Given the description of an element on the screen output the (x, y) to click on. 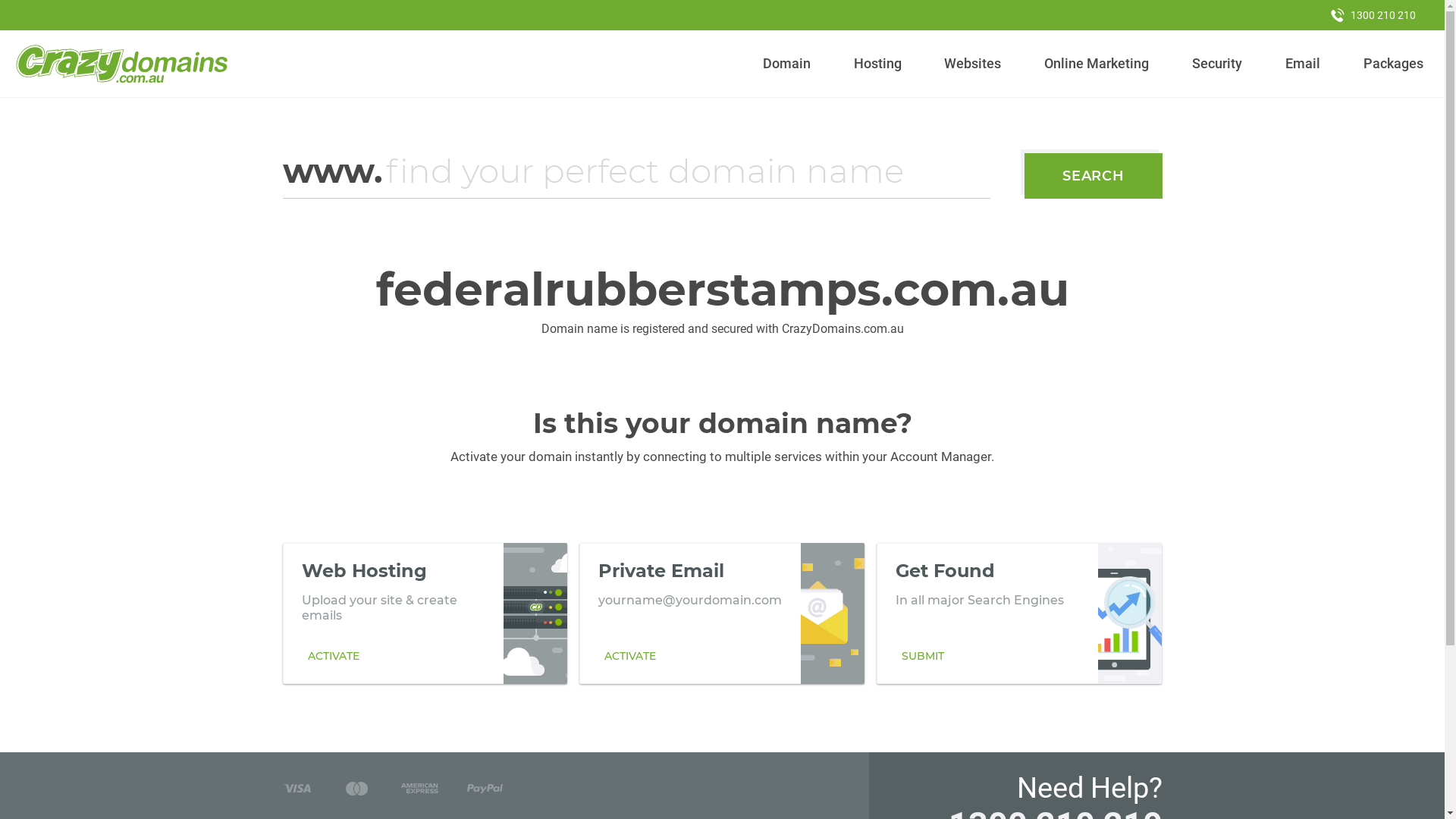
Domain Element type: text (786, 63)
SEARCH Element type: text (1092, 175)
Security Element type: text (1217, 63)
Private Email
yourname@yourdomain.com
ACTIVATE Element type: text (721, 613)
Web Hosting
Upload your site & create emails
ACTIVATE Element type: text (424, 613)
Email Element type: text (1302, 63)
Hosting Element type: text (877, 63)
Packages Element type: text (1392, 63)
Get Found
In all major Search Engines
SUBMIT Element type: text (1018, 613)
Websites Element type: text (972, 63)
Online Marketing Element type: text (1096, 63)
1300 210 210 Element type: text (1373, 15)
